Given the description of an element on the screen output the (x, y) to click on. 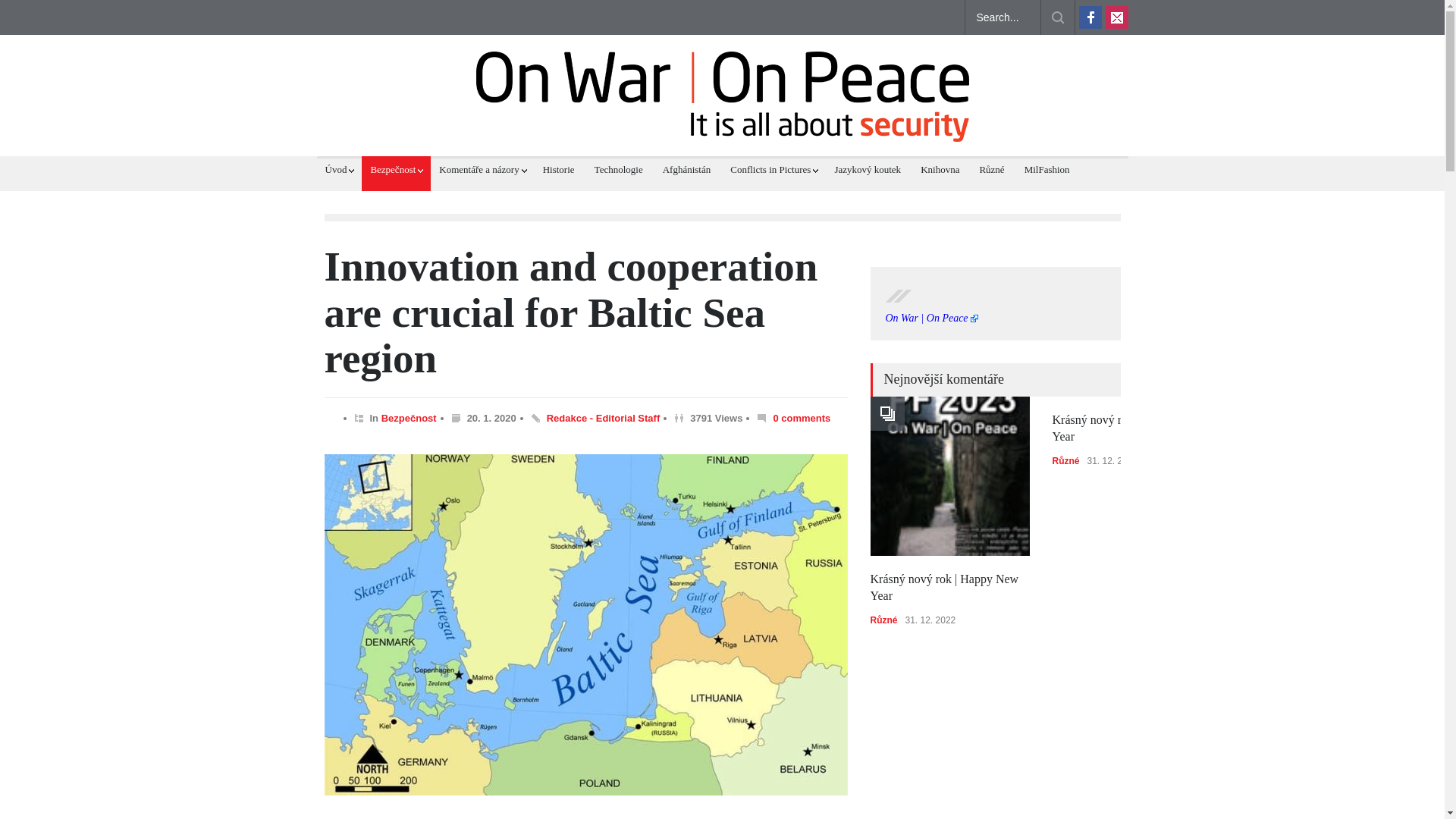
Redakce - Editorial Staff (604, 418)
0 comments (793, 418)
Redakce - Editorial Staff (604, 418)
0 comments (801, 418)
MilFashion (1043, 170)
Innovation and cooperation are crucial for Baltic Sea region (571, 312)
Search... (1002, 17)
Search... (1002, 17)
0 comments (801, 418)
Technologie (614, 170)
Innovation and cooperation are crucial for Baltic Sea region (571, 312)
Conflicts in Pictures (773, 170)
Historie (554, 170)
